Given the description of an element on the screen output the (x, y) to click on. 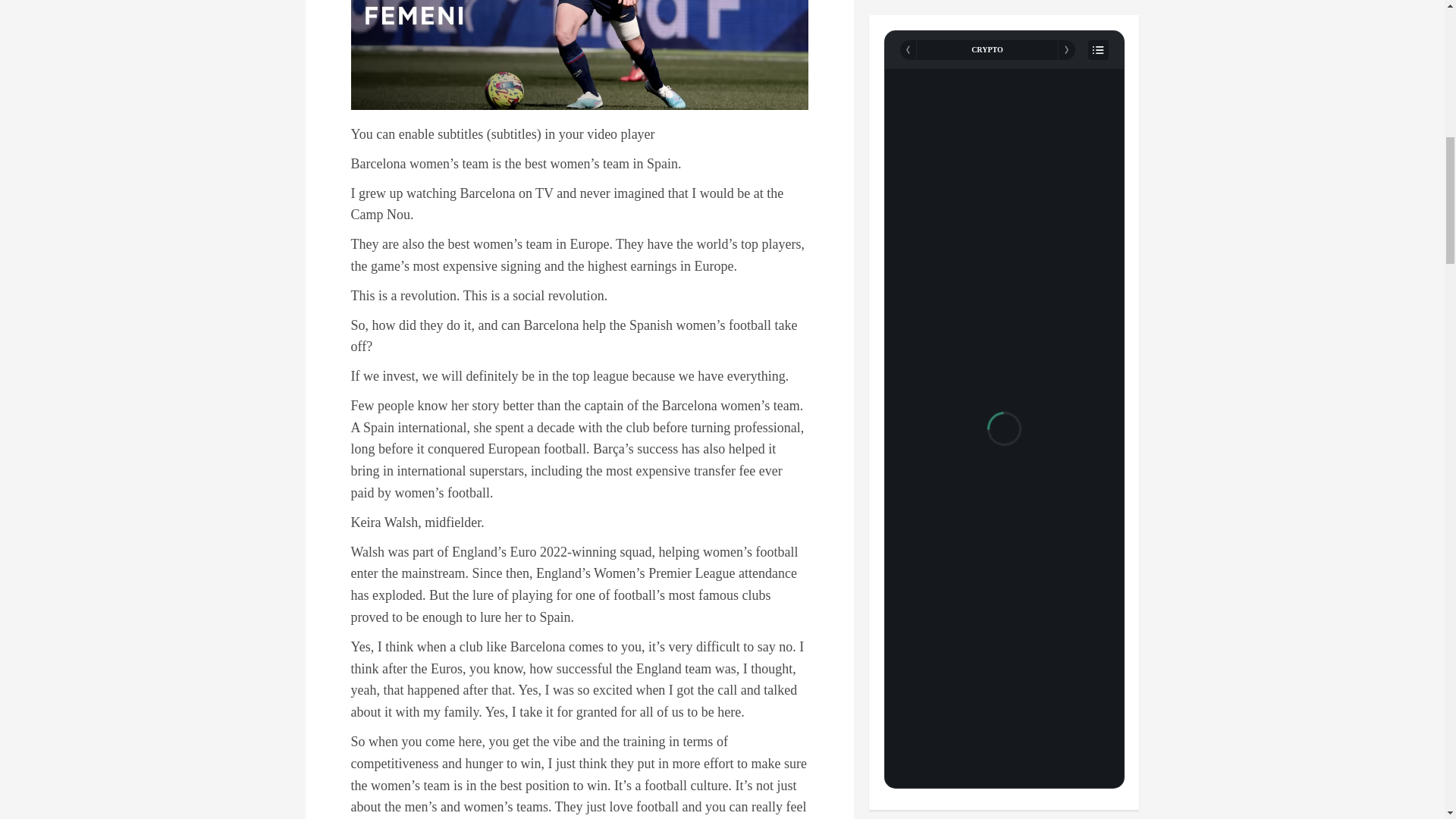
Dodge, Ram boss Tim Kuniskis to retire from Stellantis (935, 767)
Private deals for mansions, art and cars on the rise (935, 649)
